Given the description of an element on the screen output the (x, y) to click on. 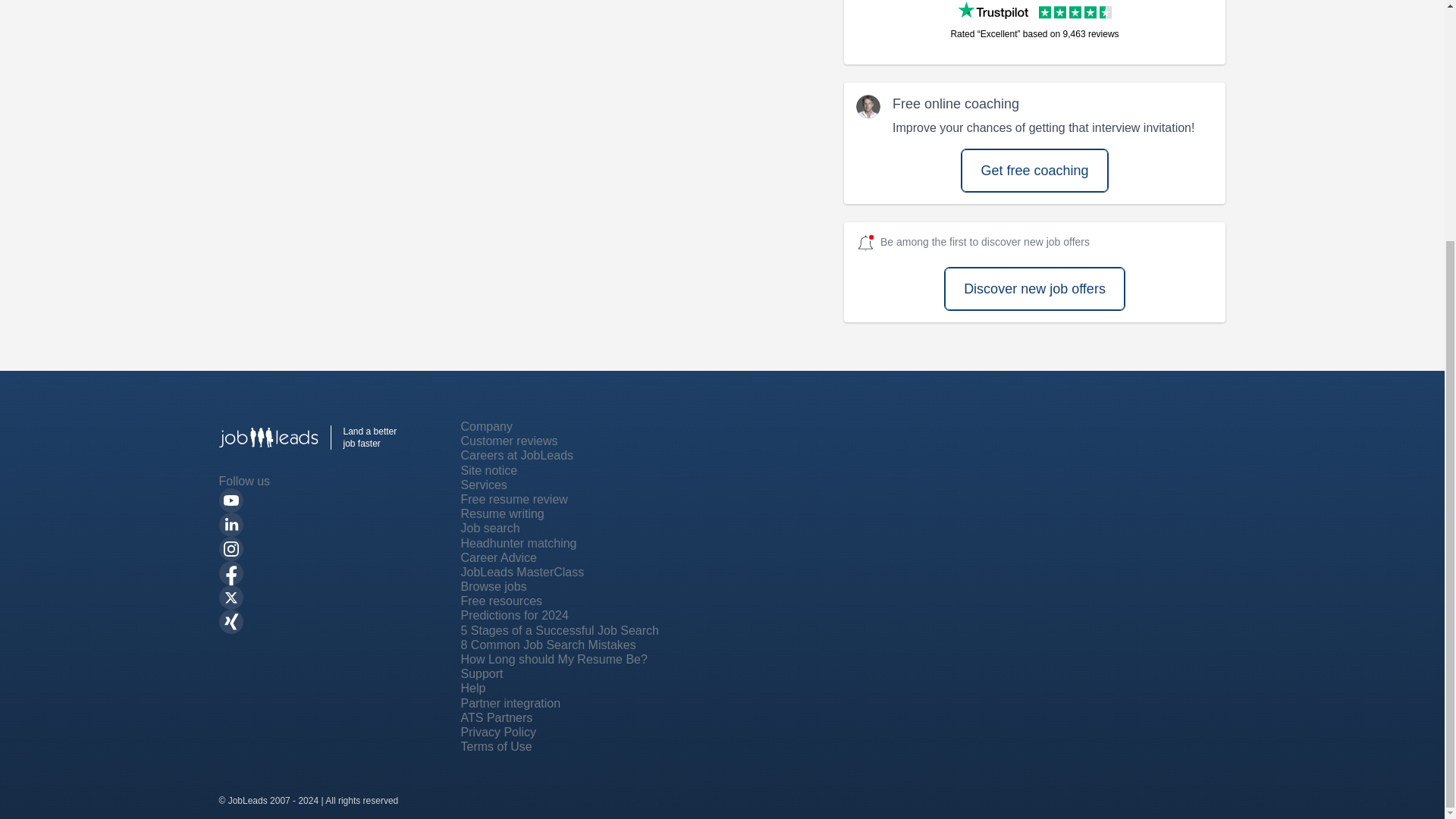
ATS Partners (496, 717)
Career Advice (499, 557)
Terms of Use (496, 746)
Privacy Policy (499, 731)
How Long should My Resume Be? (554, 658)
Partner integration (510, 703)
5 Stages of a Successful Job Search (560, 630)
Get free coaching (1033, 170)
Free resume review (514, 499)
Predictions for 2024 (515, 615)
